Given the description of an element on the screen output the (x, y) to click on. 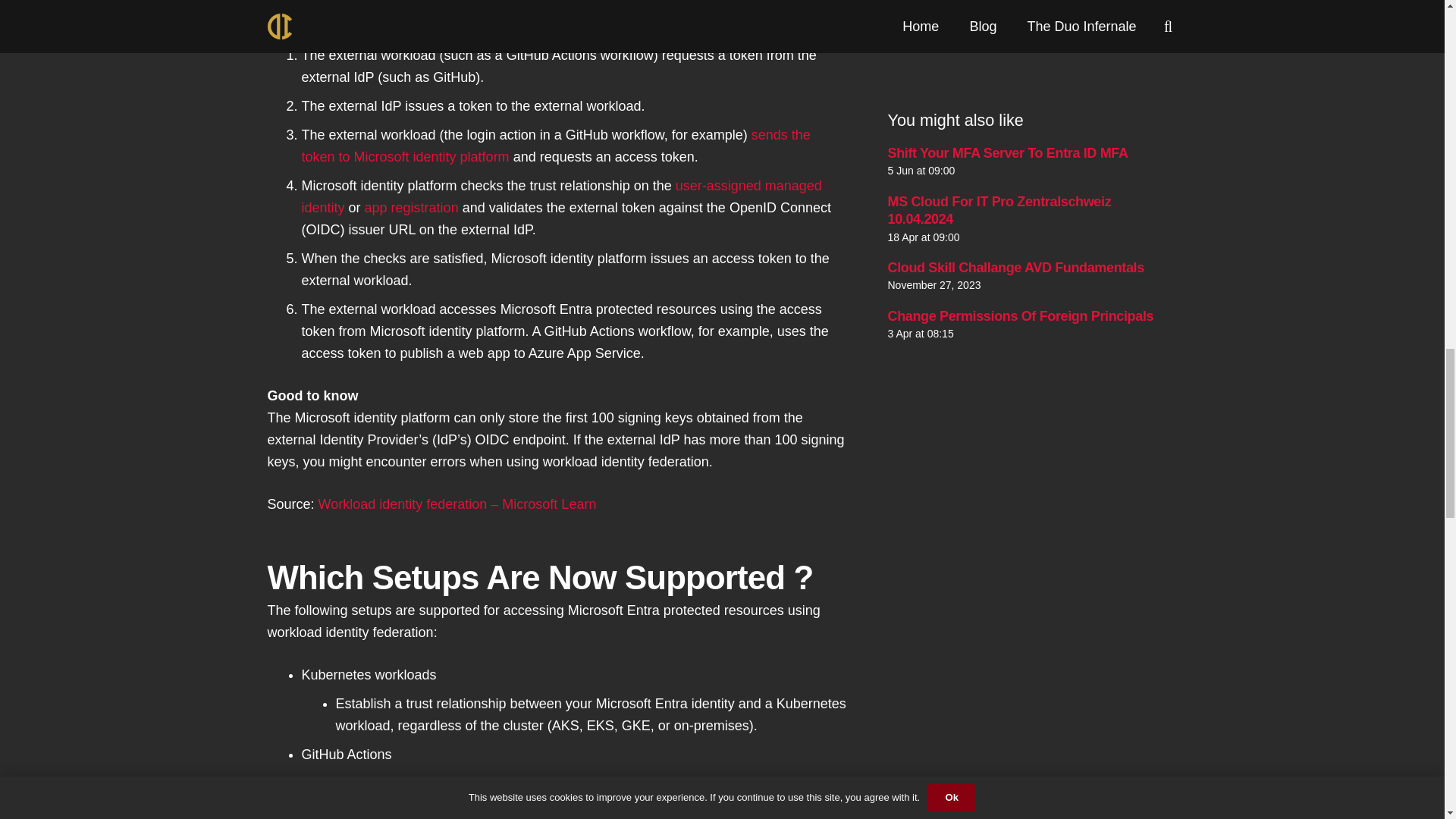
user-assigned managed identity (561, 196)
app registration (411, 207)
sends the token to Microsoft identity platform (555, 145)
